Given the description of an element on the screen output the (x, y) to click on. 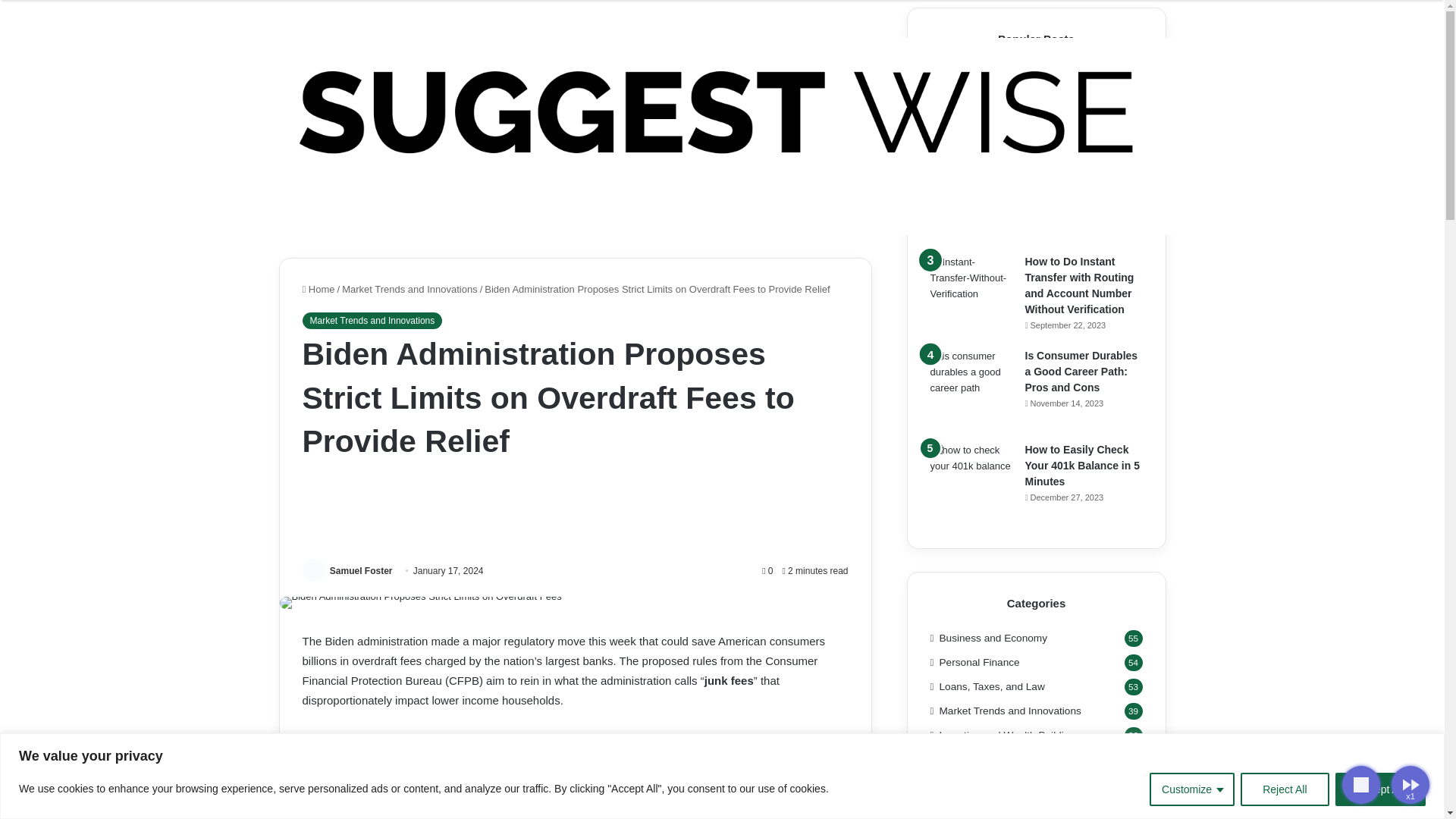
Suggest Wise (722, 112)
Customize (1192, 788)
Market Trends and Innovations (371, 320)
Home (317, 288)
x1 (1385, 784)
x1 (1410, 784)
Market Trends and Innovations (409, 288)
Reject All (1283, 788)
Accept All (1380, 788)
Samuel Foster (361, 570)
Samuel Foster (361, 570)
